Given the description of an element on the screen output the (x, y) to click on. 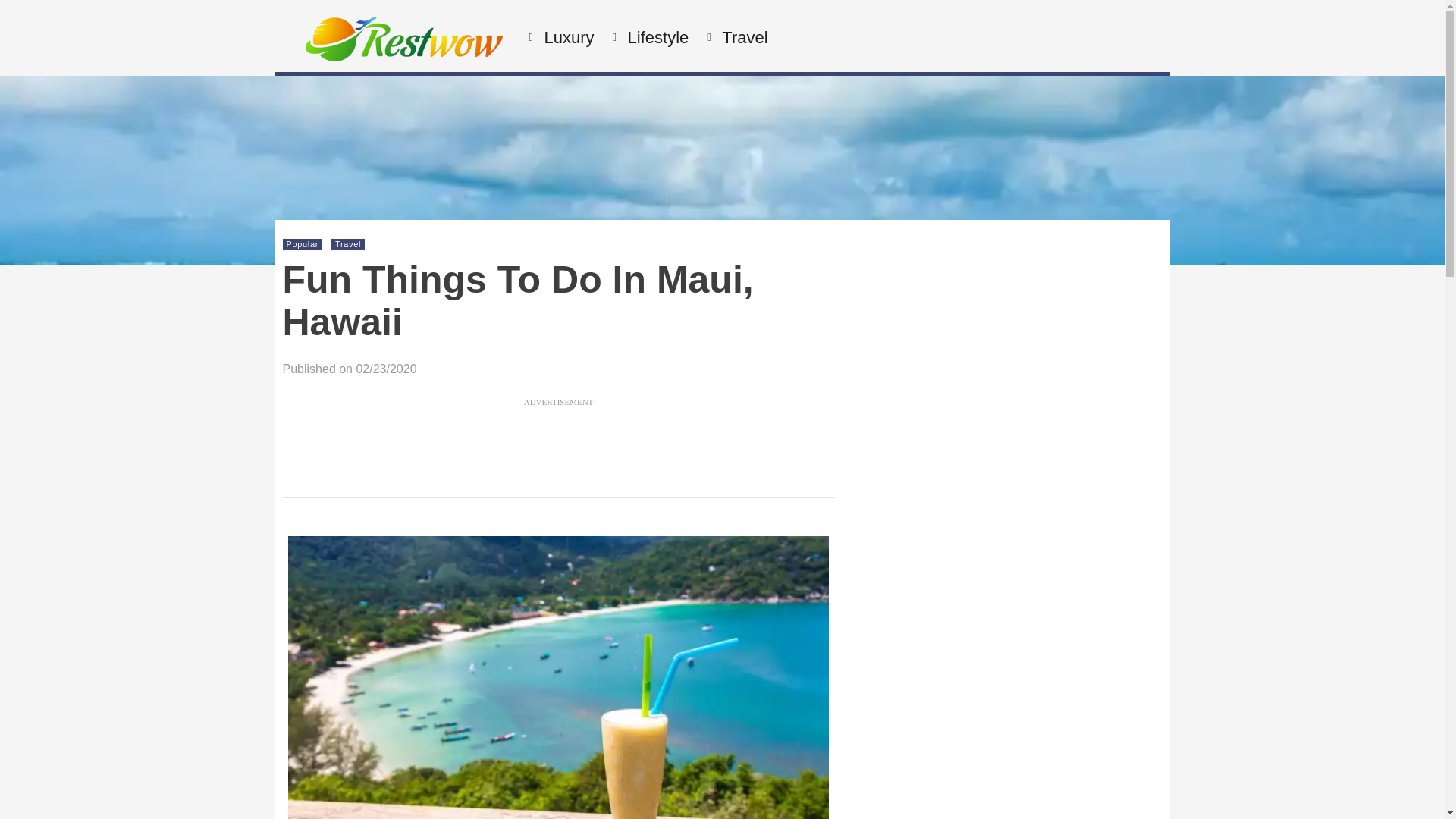
Popular (302, 243)
Travel (742, 37)
Luxury (567, 37)
Lifestyle (656, 37)
Restwow (403, 56)
Travel (347, 243)
